Given the description of an element on the screen output the (x, y) to click on. 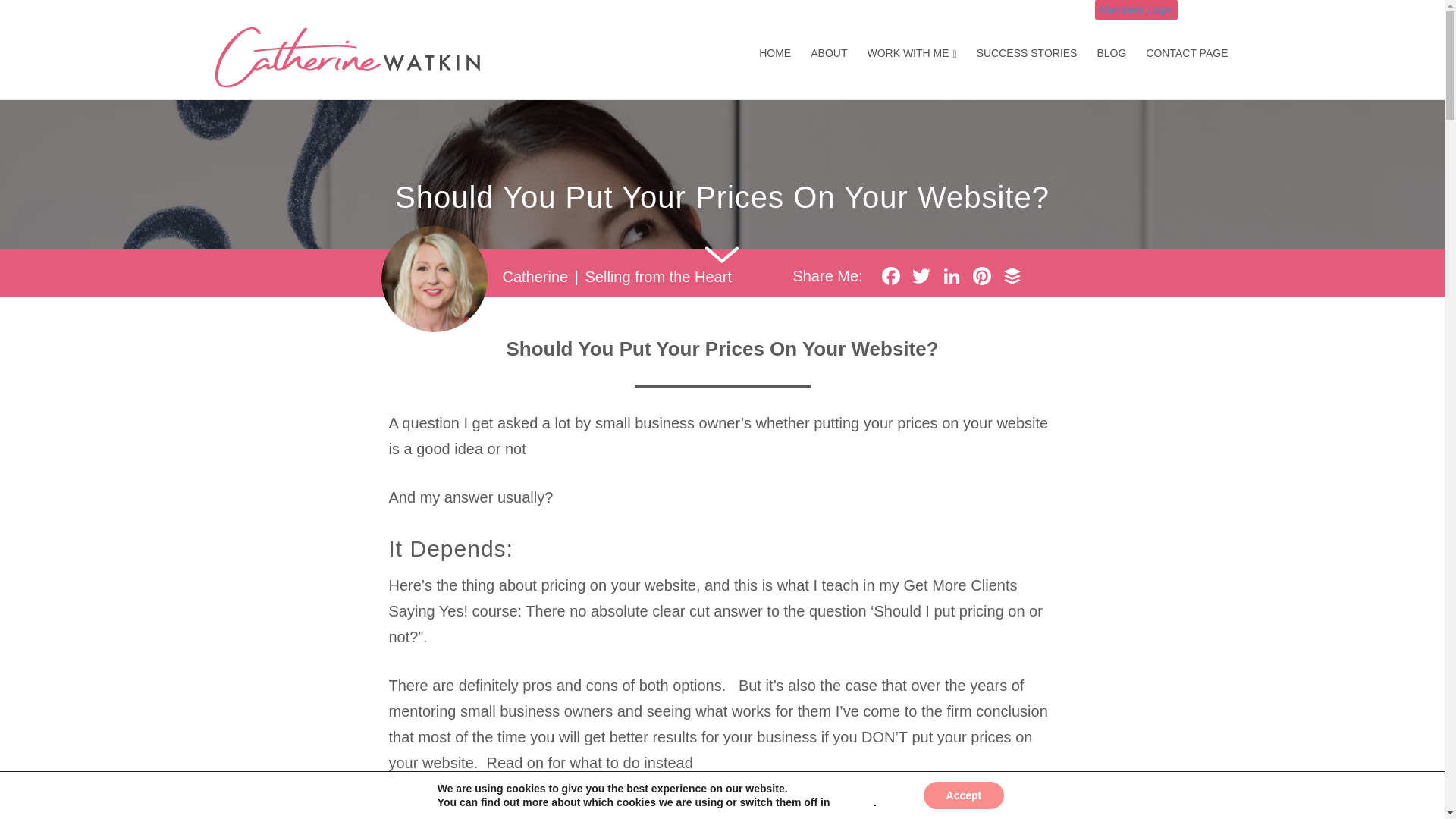
HOME (774, 53)
Cath circle 600 (433, 279)
Catherine (534, 276)
LinkedIn (951, 277)
WORK WITH ME (911, 53)
Pinterest (981, 277)
ABOUT (829, 53)
CONTACT PAGE (1186, 53)
Facebook (890, 277)
Buffer (1012, 277)
